Given the description of an element on the screen output the (x, y) to click on. 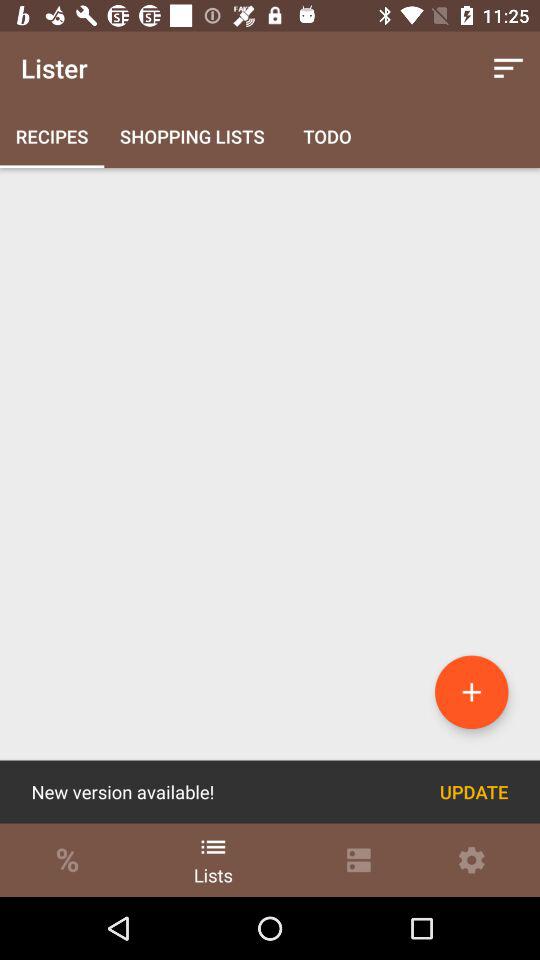
turn off the icon at the top right corner (508, 67)
